Given the description of an element on the screen output the (x, y) to click on. 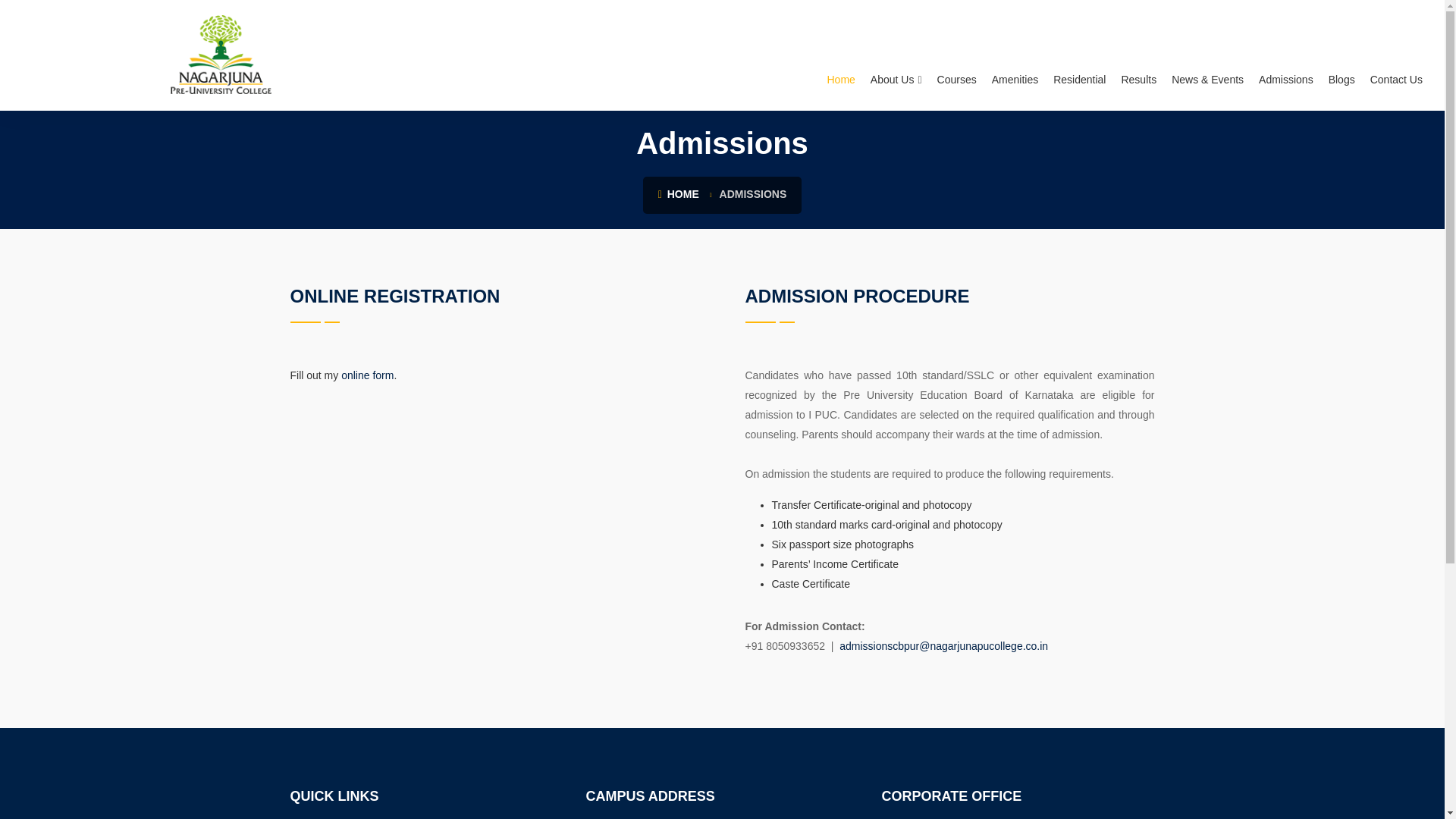
Residential (1079, 54)
Contact Us (1395, 54)
HOME (678, 193)
Amenities (1014, 54)
Courses (957, 54)
Blogs (1341, 54)
Home (839, 54)
Results (1138, 54)
Admissions (1285, 54)
online form (366, 375)
About Us (896, 55)
